Given the description of an element on the screen output the (x, y) to click on. 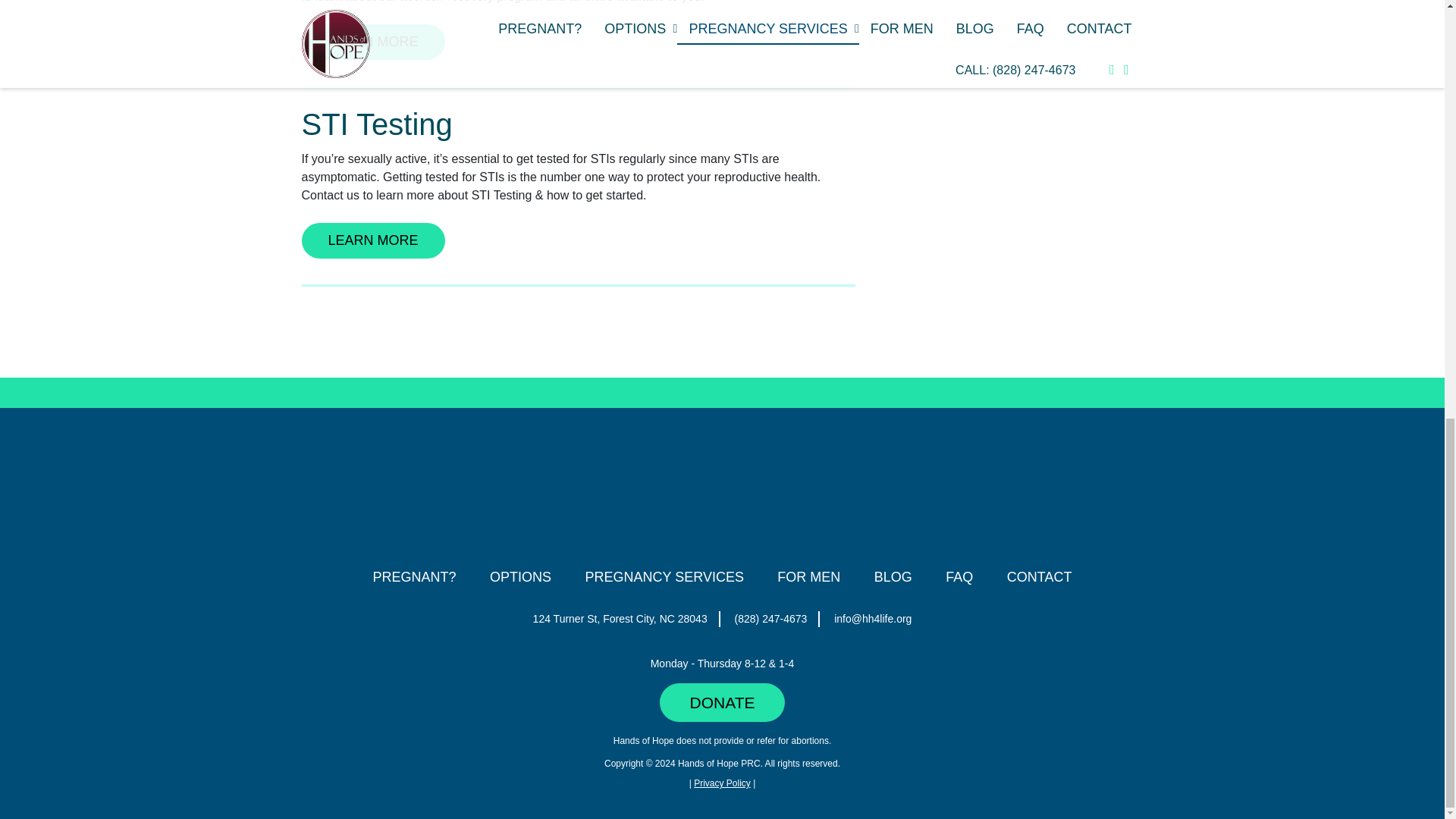
PREGNANT? (414, 576)
LEARN MORE (373, 240)
OPTIONS (520, 576)
LEARN MORE (373, 41)
PREGNANCY SERVICES (664, 576)
FOR MEN (808, 576)
BLOG (893, 576)
